Given the description of an element on the screen output the (x, y) to click on. 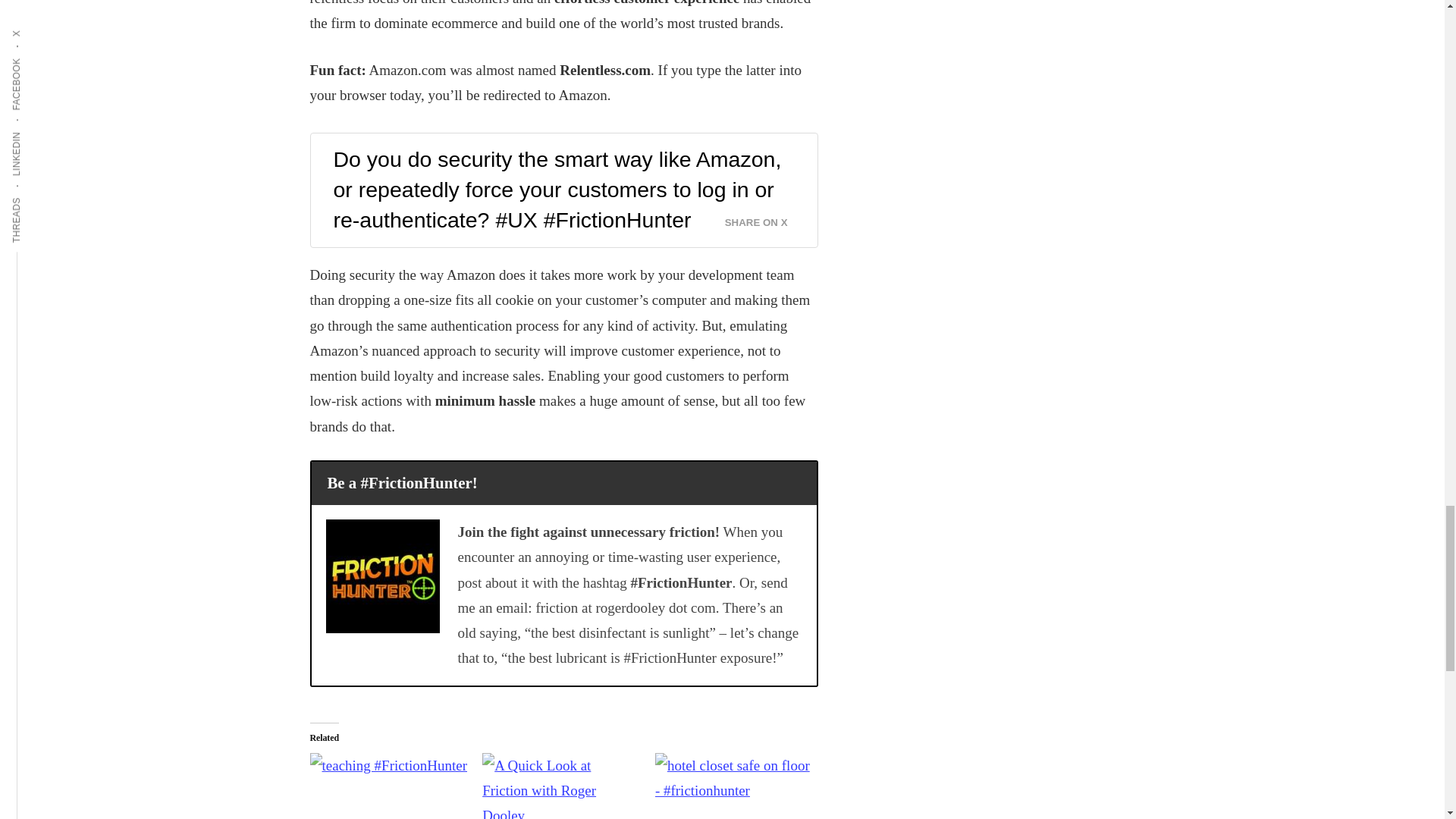
A Quick Look at Friction with Roger Dooley (560, 785)
